Given the description of an element on the screen output the (x, y) to click on. 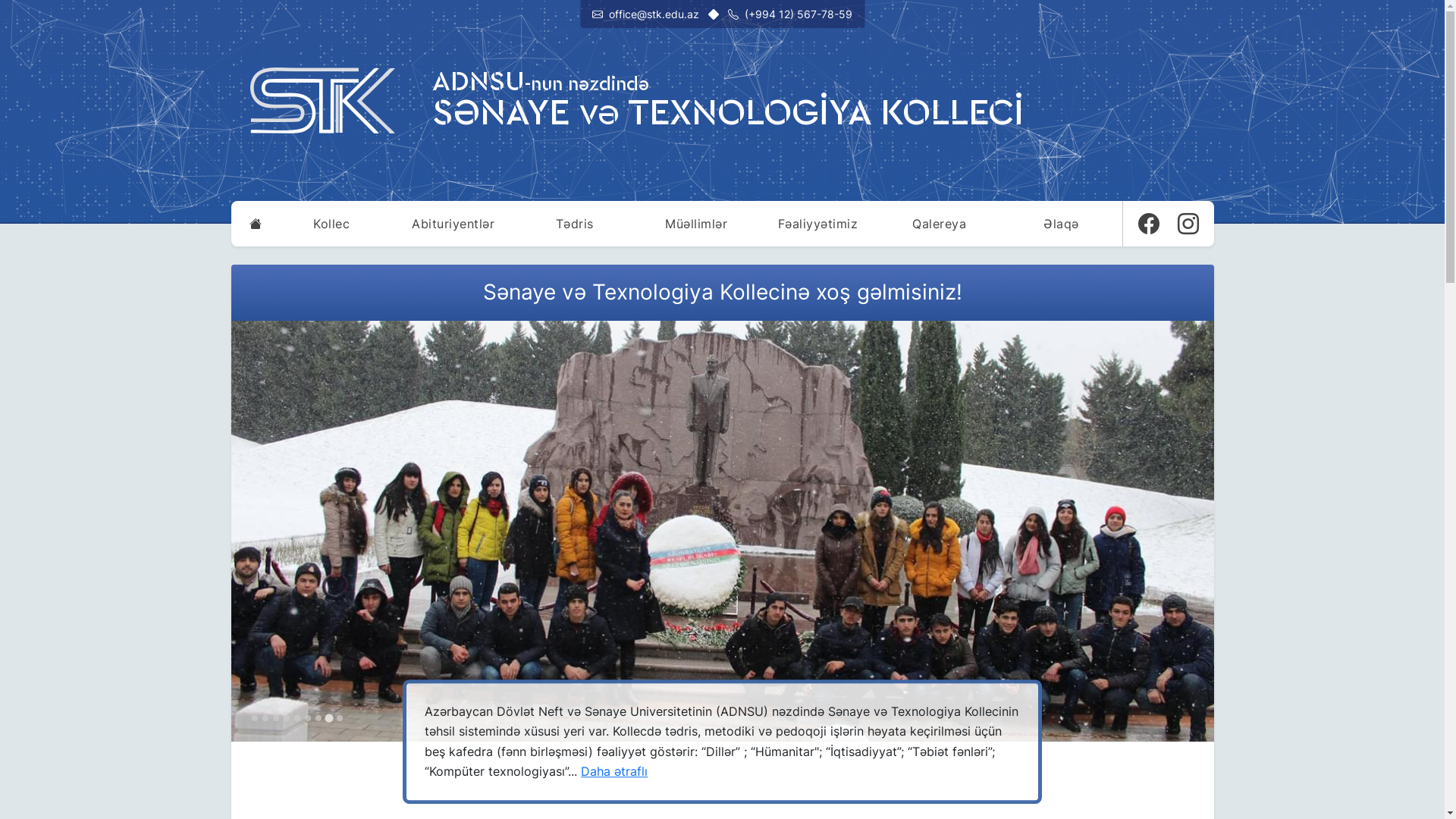
Qalereya Element type: text (939, 223)
Kollec Element type: text (331, 223)
